Given the description of an element on the screen output the (x, y) to click on. 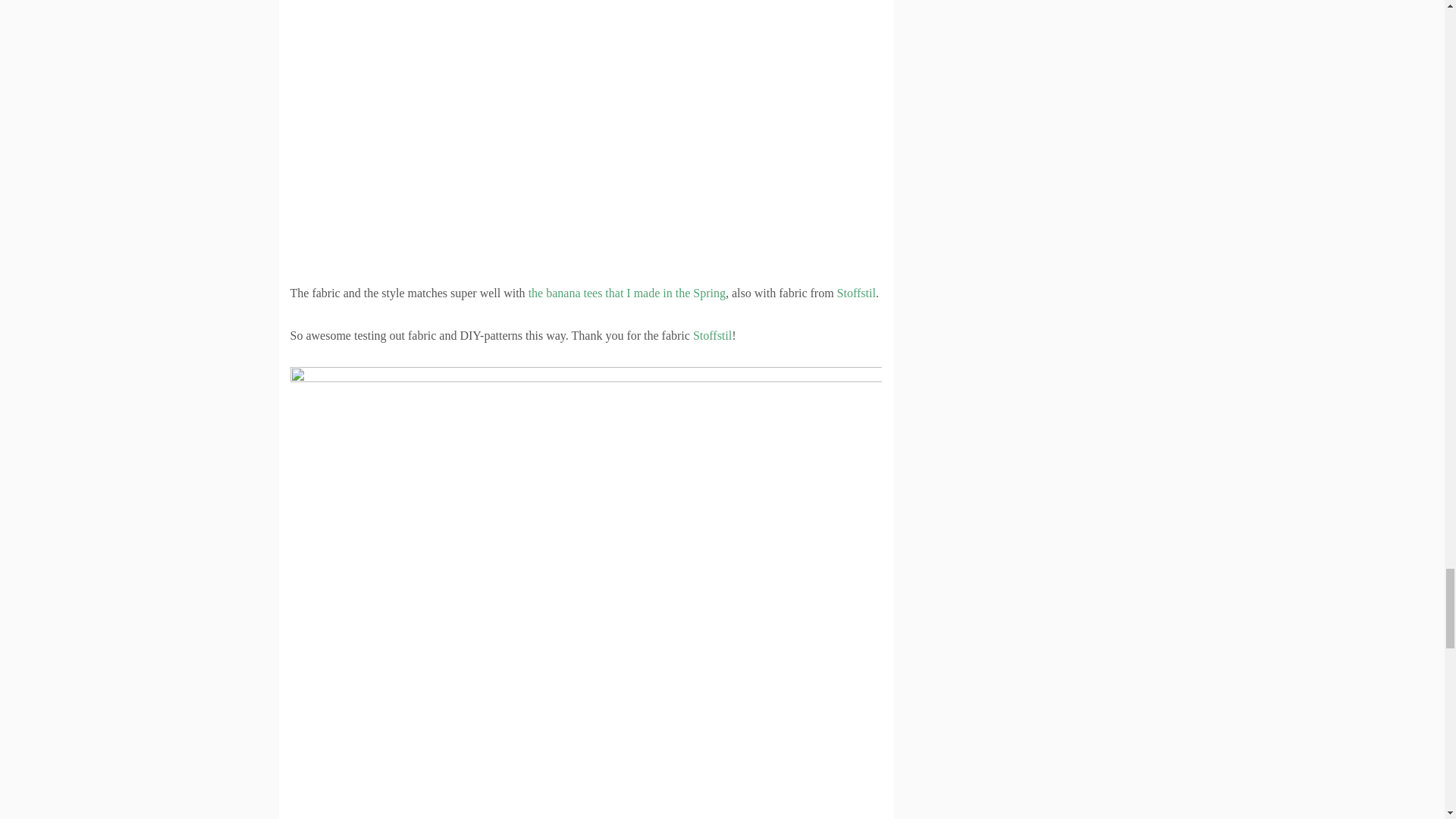
the banana tees that I made in the Spring (626, 292)
Stoffstil (712, 335)
Stoffstil (856, 292)
